Given the description of an element on the screen output the (x, y) to click on. 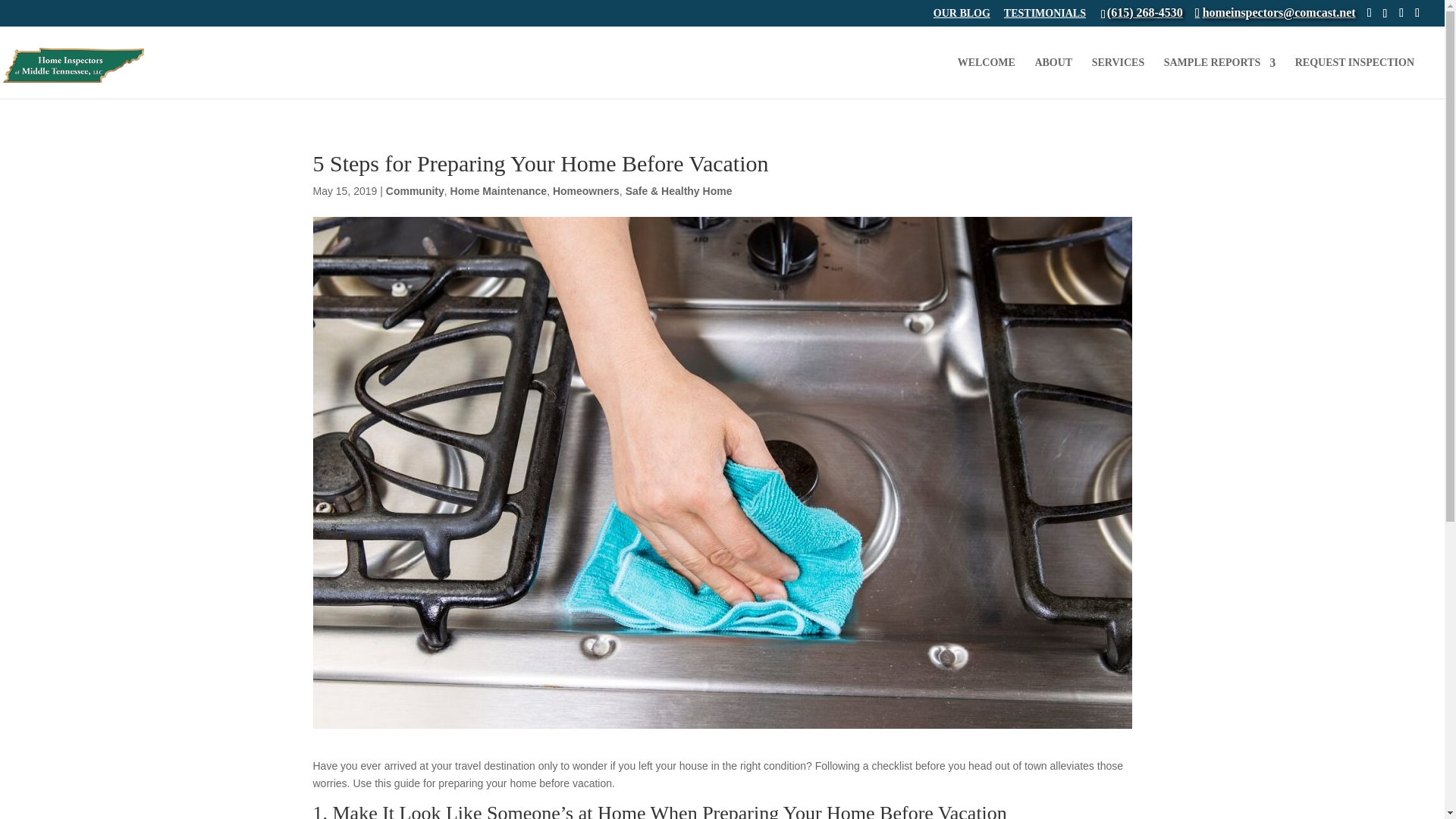
ABOUT (1052, 77)
Community (414, 191)
WELCOME (986, 77)
SERVICES (1118, 77)
Homeowners (586, 191)
TESTIMONIALS (1045, 17)
Home Maintenance (498, 191)
SAMPLE REPORTS (1219, 77)
REQUEST INSPECTION (1354, 77)
OUR BLOG (961, 17)
